Given the description of an element on the screen output the (x, y) to click on. 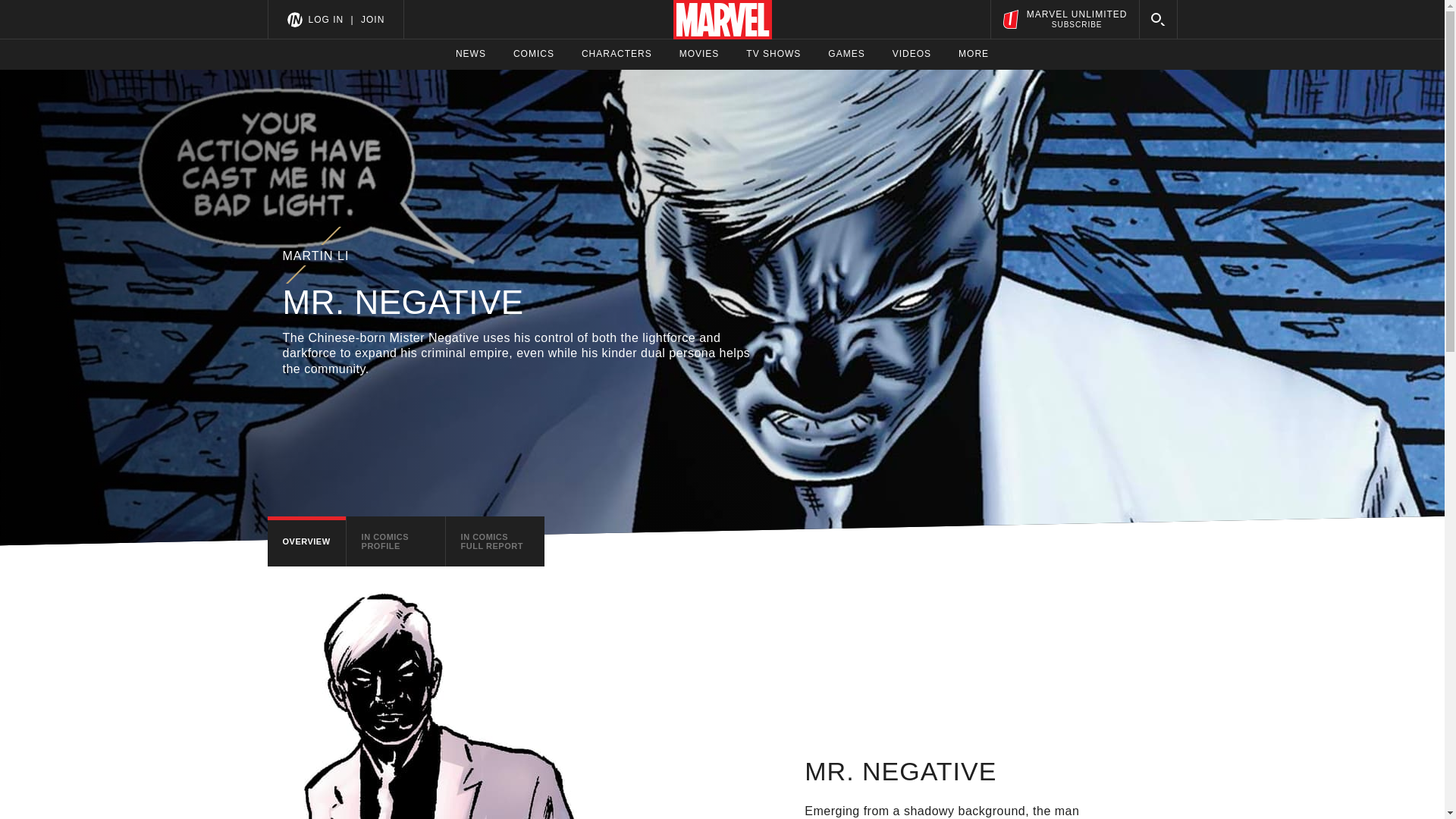
NEWS (470, 54)
CHARACTERS (616, 54)
IN COMICS PROFILE (395, 541)
MORE (973, 54)
JOIN (1064, 19)
VIDEOS (372, 18)
TV SHOWS (911, 54)
COMICS (772, 54)
GAMES (533, 54)
IN COMICS FULL REPORT (846, 54)
MOVIES (494, 541)
OVERVIEW (699, 54)
LOG IN (305, 541)
